Given the description of an element on the screen output the (x, y) to click on. 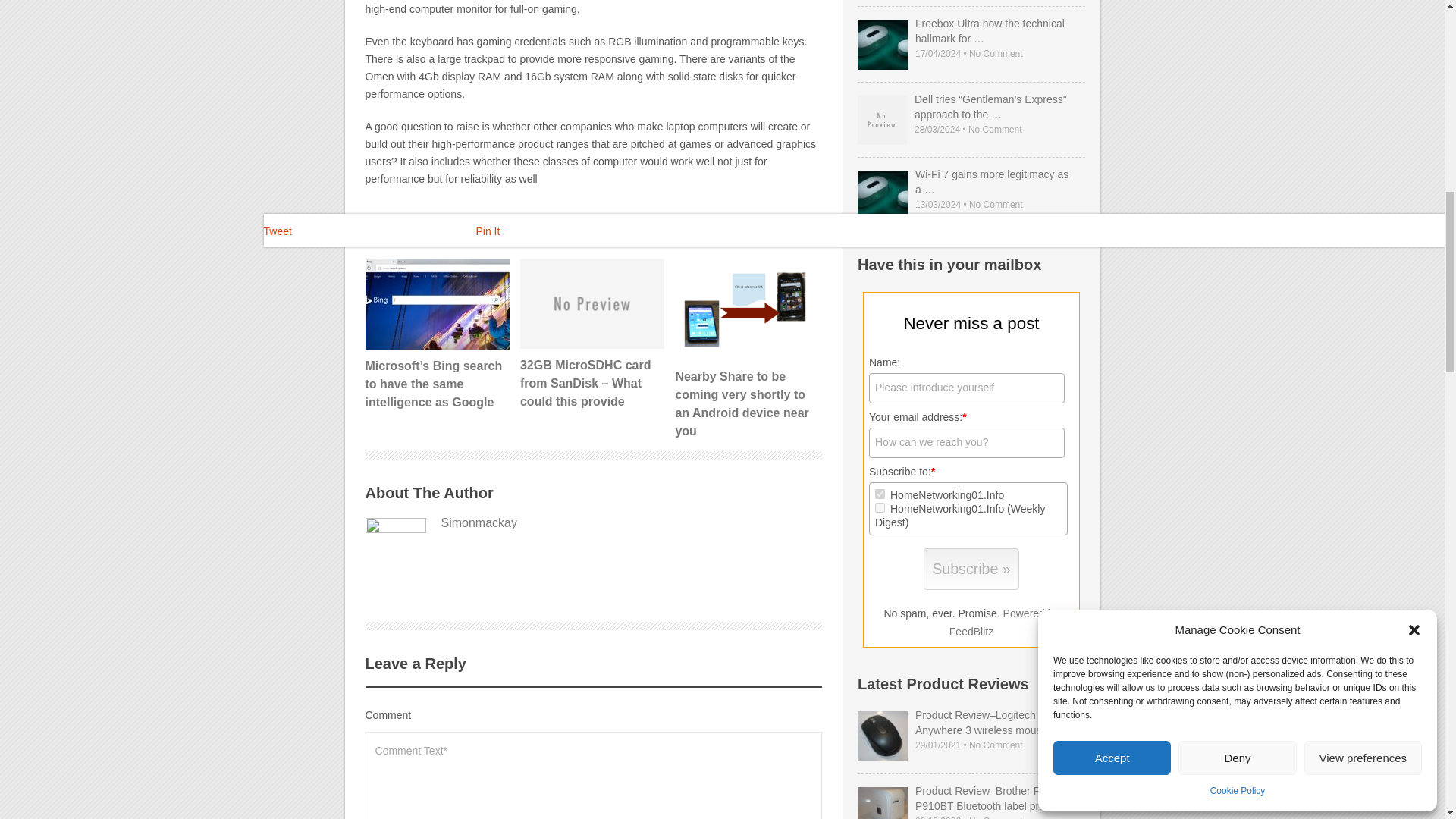
992220 (880, 507)
992216 (880, 493)
